Given the description of an element on the screen output the (x, y) to click on. 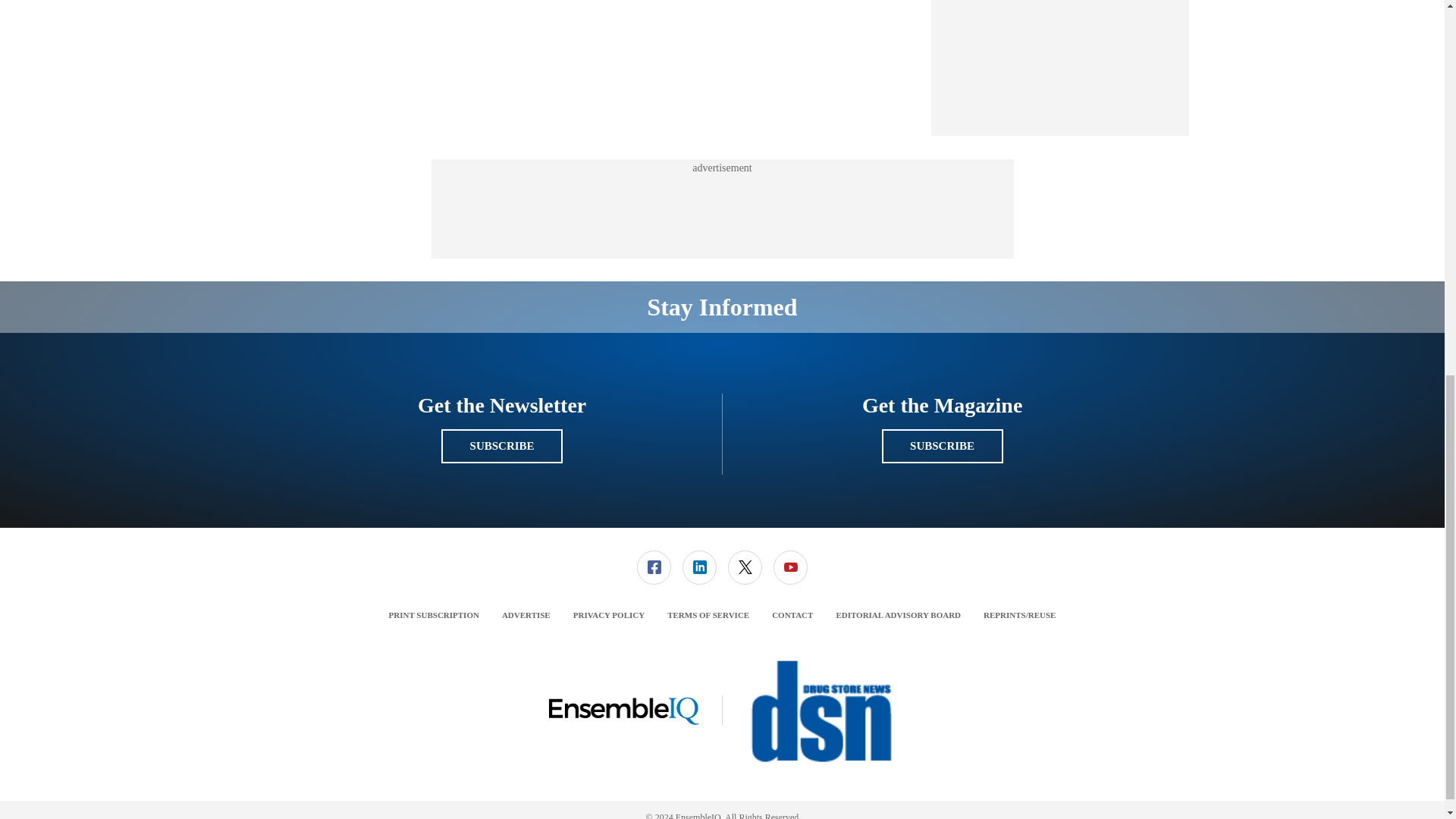
SUBSCRIBE (942, 446)
SUBSCRIBE (501, 446)
3rd party ad content (721, 209)
3rd party ad content (1059, 60)
